Given the description of an element on the screen output the (x, y) to click on. 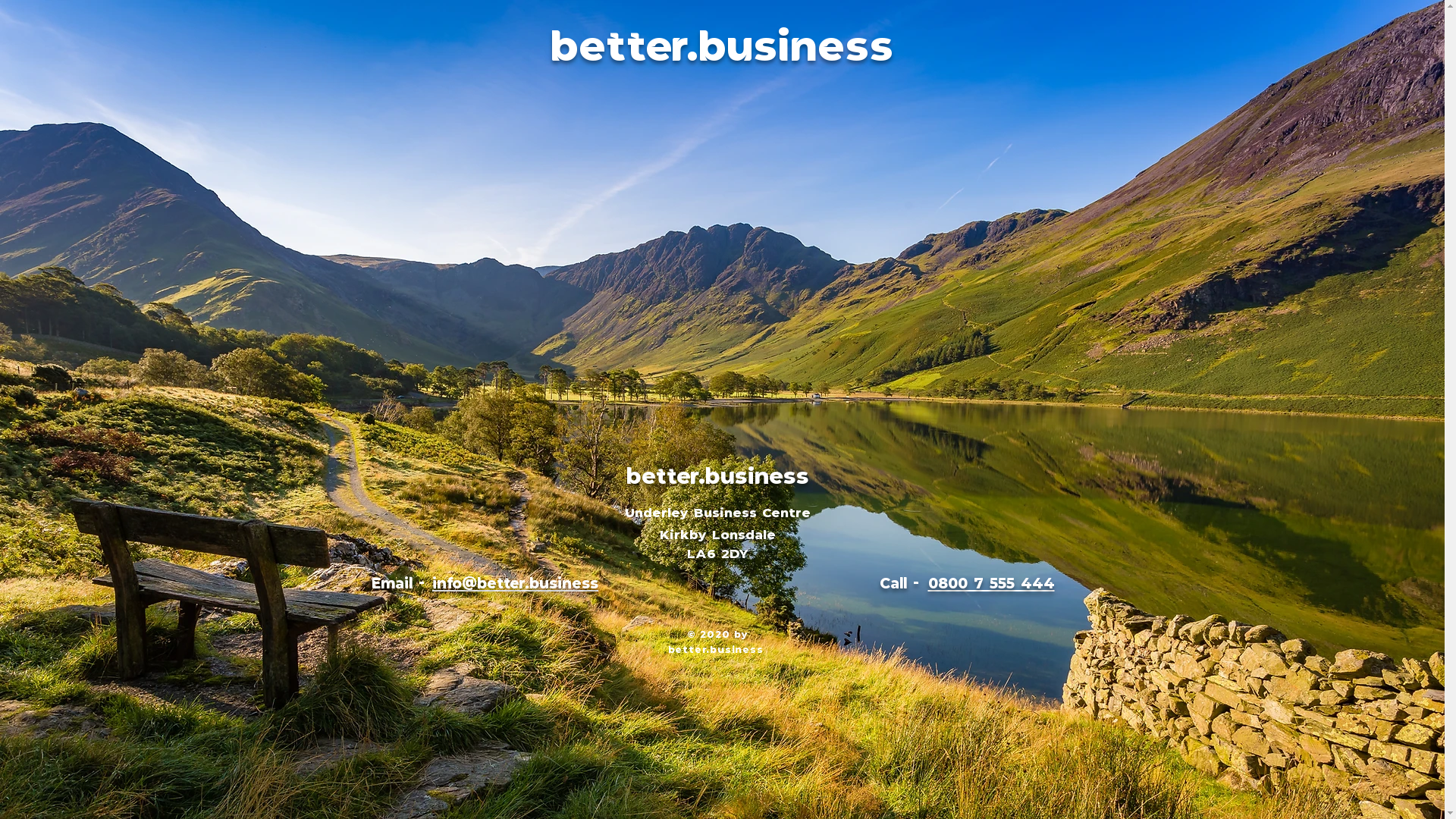
Email -  Element type: text (400, 582)
Call -  Element type: text (902, 582)
info@better.business Element type: text (515, 582)
0800 7 555 444 Element type: text (991, 582)
